Given the description of an element on the screen output the (x, y) to click on. 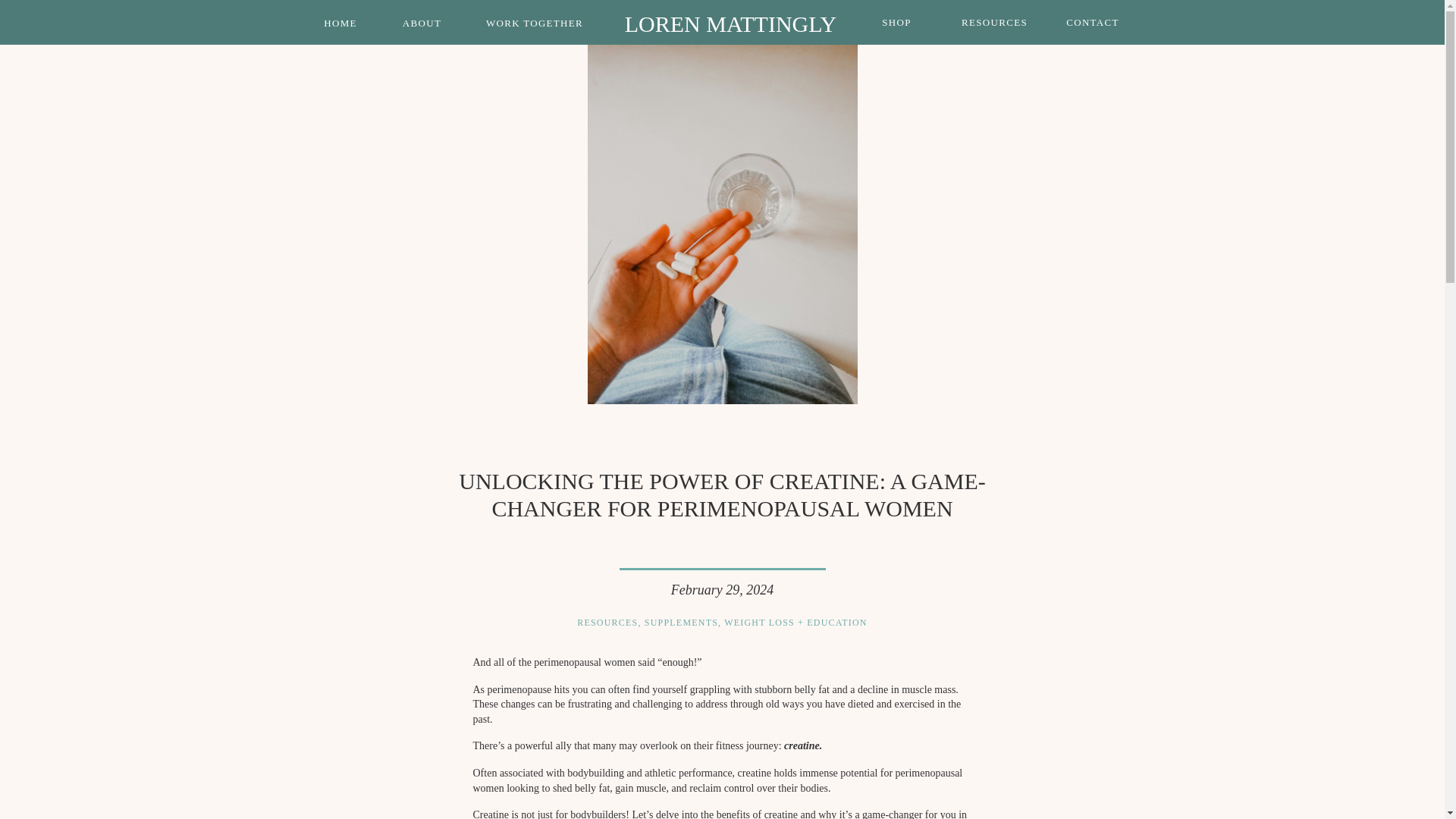
HOME (341, 22)
SHOP (897, 22)
WORK TOGETHER (534, 22)
RESOURCES (606, 622)
SUPPLEMENTS (681, 622)
RESOURCES (995, 22)
CONTACT (1093, 22)
ABOUT (421, 22)
